Given the description of an element on the screen output the (x, y) to click on. 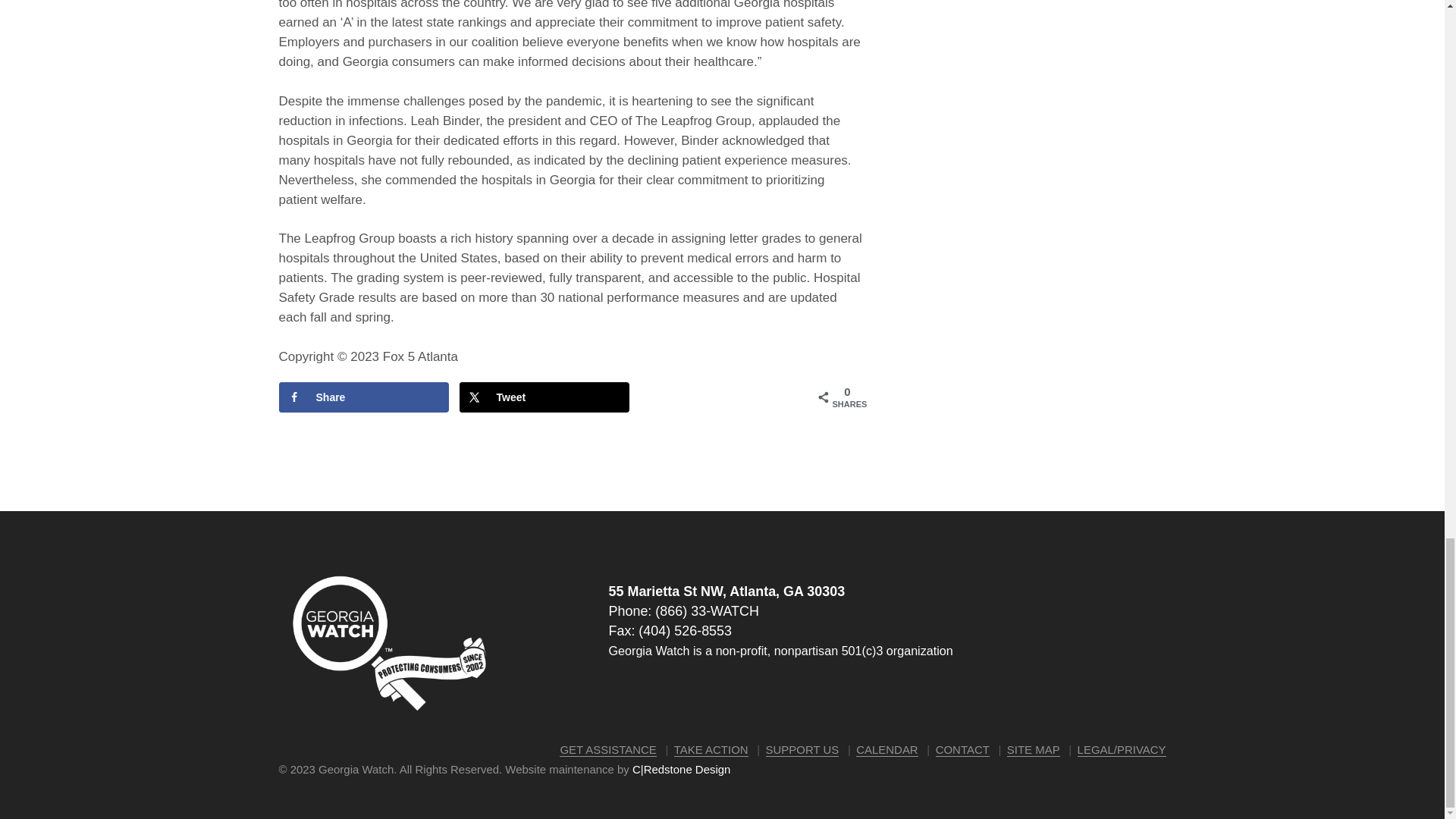
Share on X (544, 397)
Share on Facebook (363, 397)
